Given the description of an element on the screen output the (x, y) to click on. 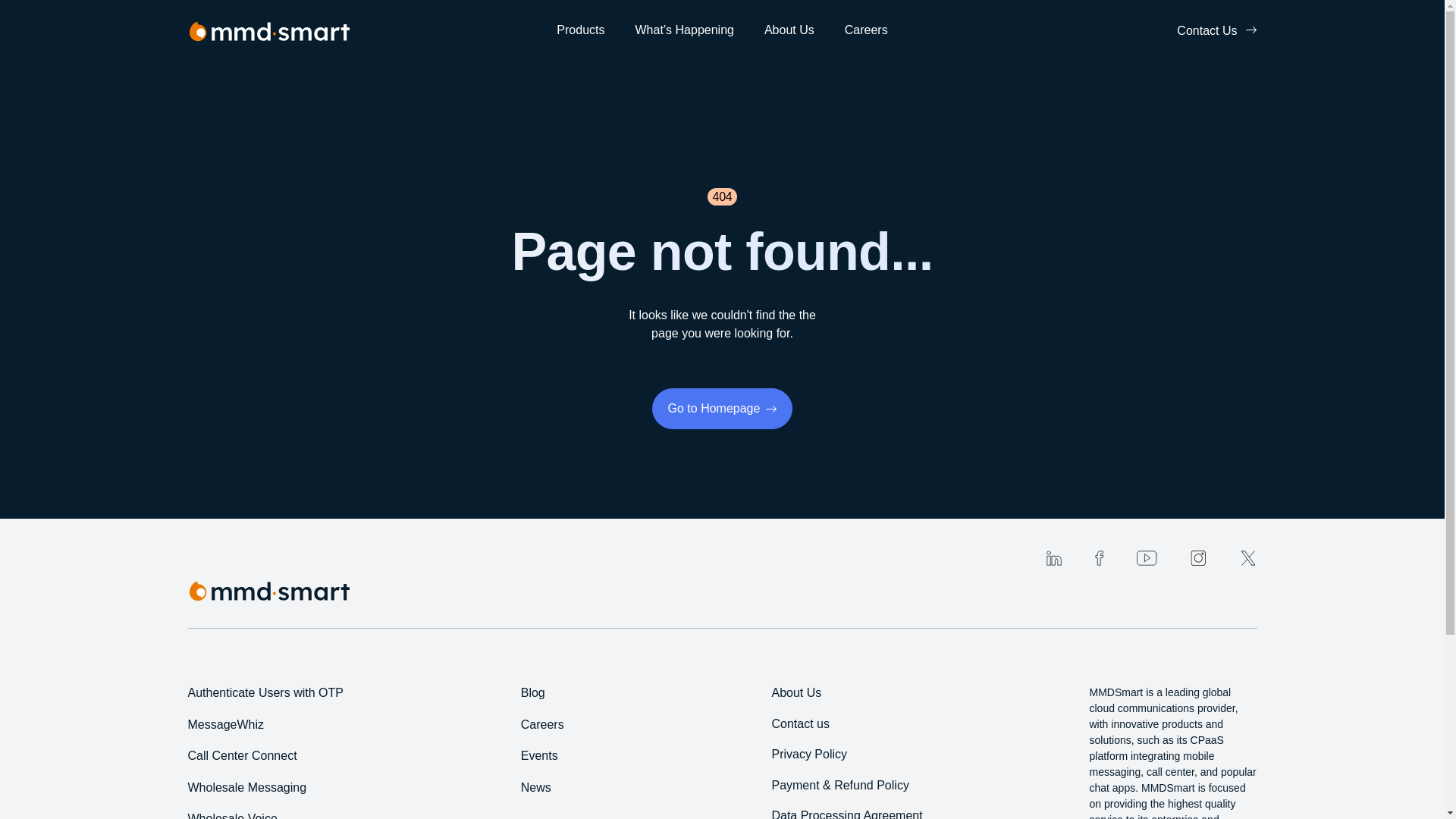
Products (580, 38)
Go to Homepage (722, 408)
Call Center Connect (242, 755)
Authenticate Users with OTP (265, 692)
Data Processing Agreement (846, 814)
Contact Us (1216, 30)
About Us (796, 692)
Wholesale Voice (232, 815)
About Us (788, 38)
Careers (542, 724)
Wholesale Messaging (247, 787)
Privacy Policy (809, 753)
Events (539, 755)
Blog (532, 692)
Careers (866, 38)
